Given the description of an element on the screen output the (x, y) to click on. 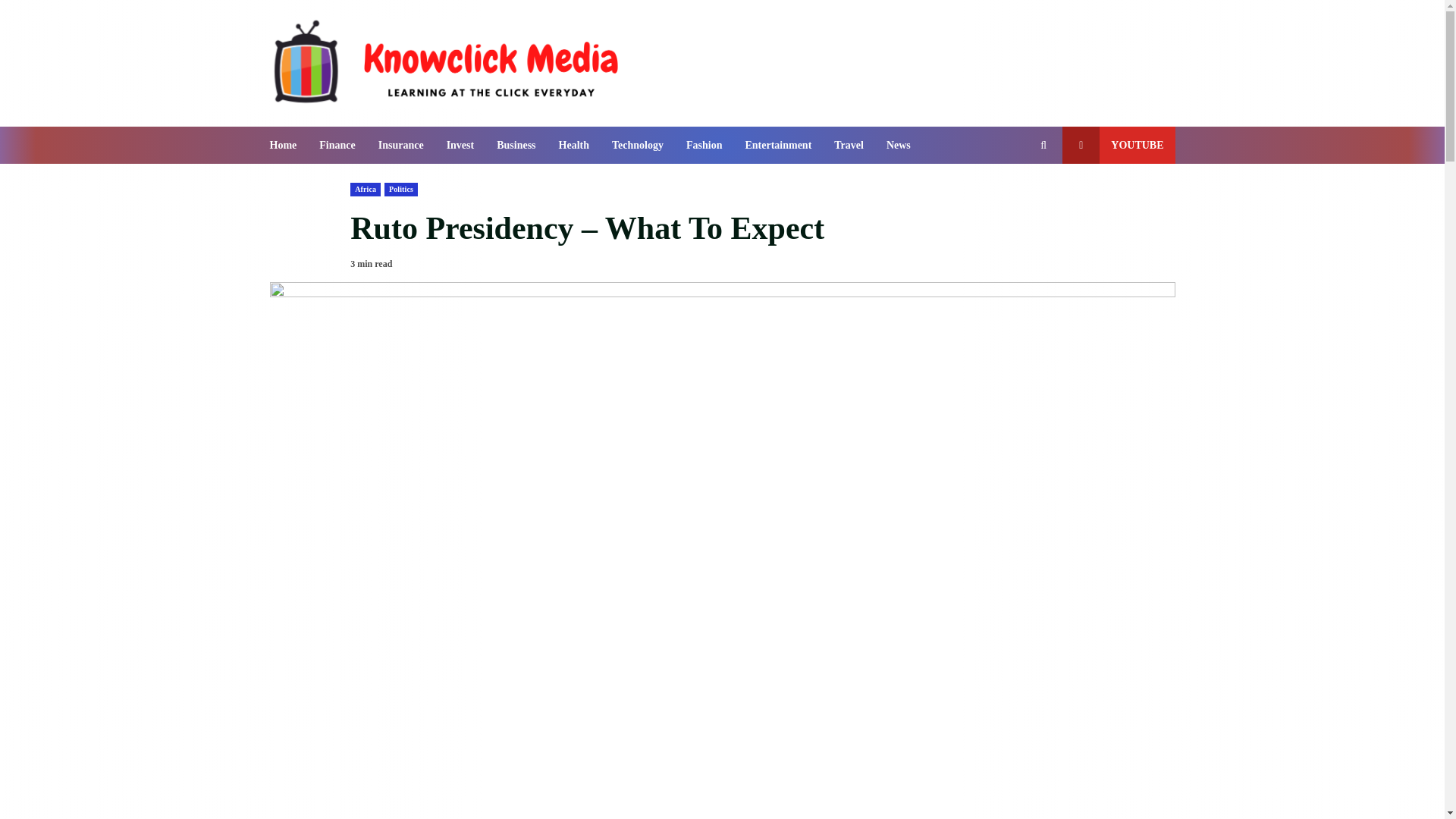
Travel (848, 144)
News (893, 144)
Search (1015, 196)
Finance (336, 144)
Invest (460, 144)
Africa (365, 189)
Business (515, 144)
Entertainment (777, 144)
YOUTUBE (1118, 144)
Insurance (400, 144)
